Given the description of an element on the screen output the (x, y) to click on. 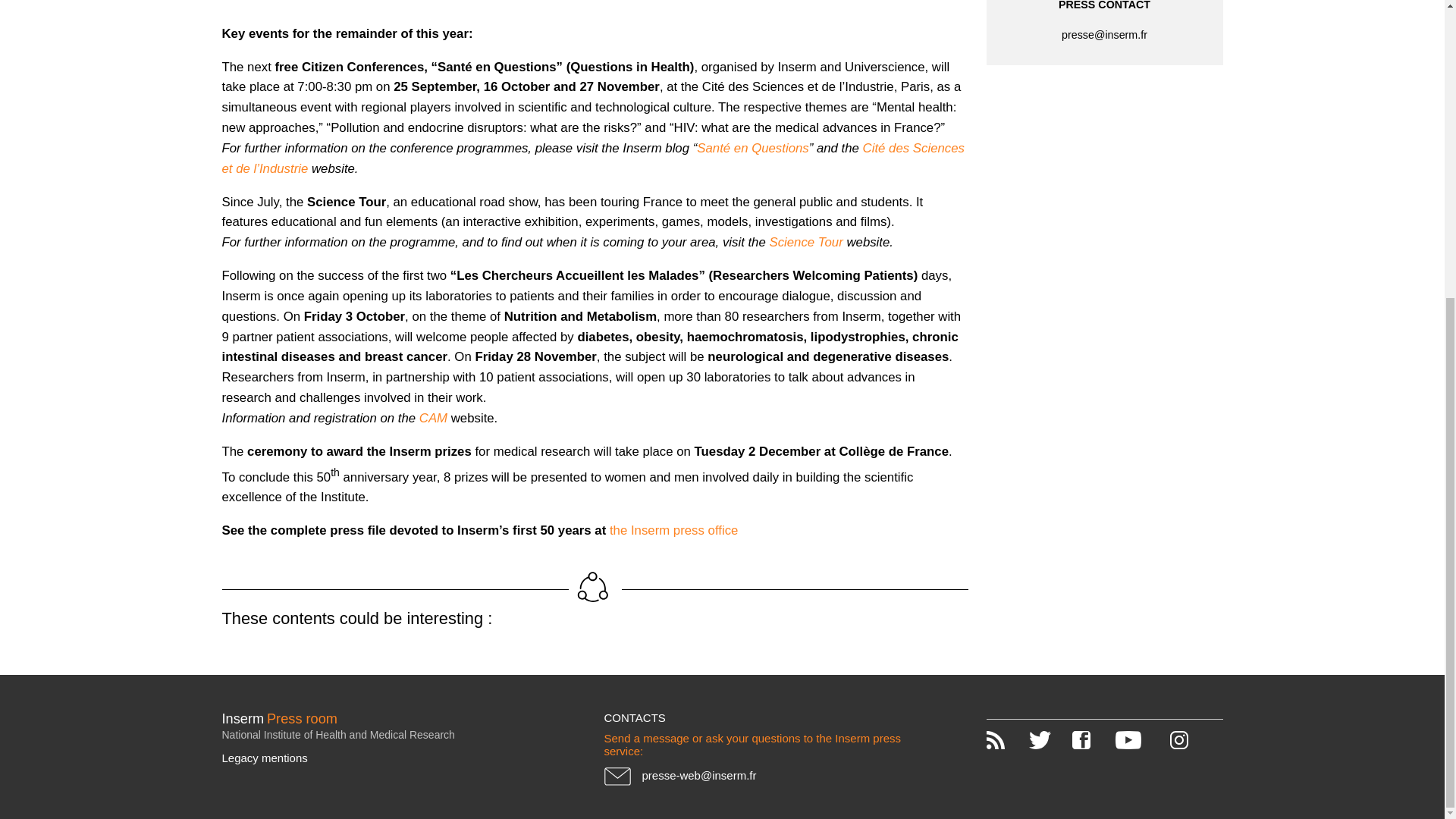
the Inserm press office (674, 530)
CAM (432, 418)
Science Tour (805, 242)
Legacy mentions (382, 757)
